Given the description of an element on the screen output the (x, y) to click on. 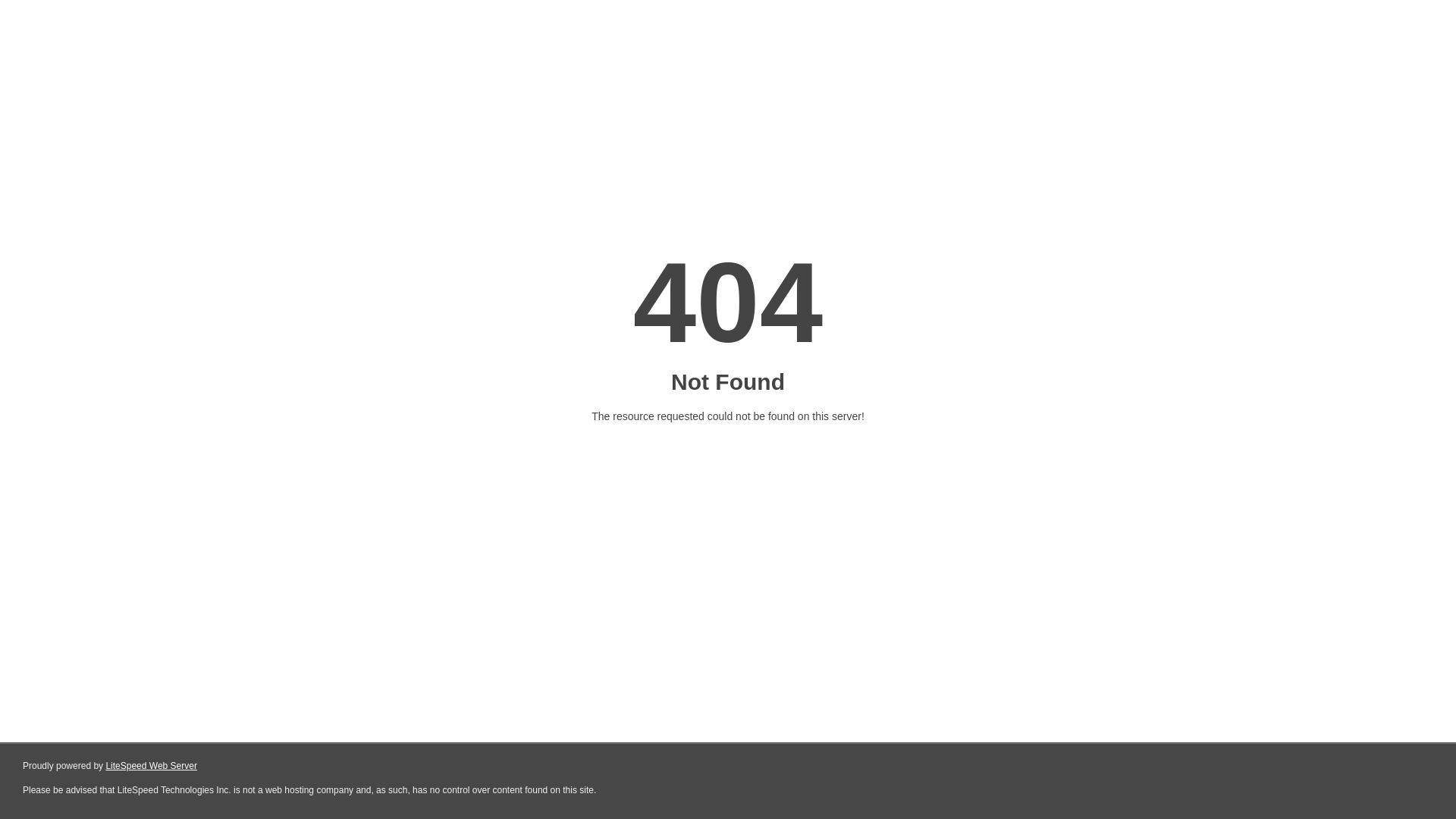
LiteSpeed Web Server Element type: text (151, 765)
